Given the description of an element on the screen output the (x, y) to click on. 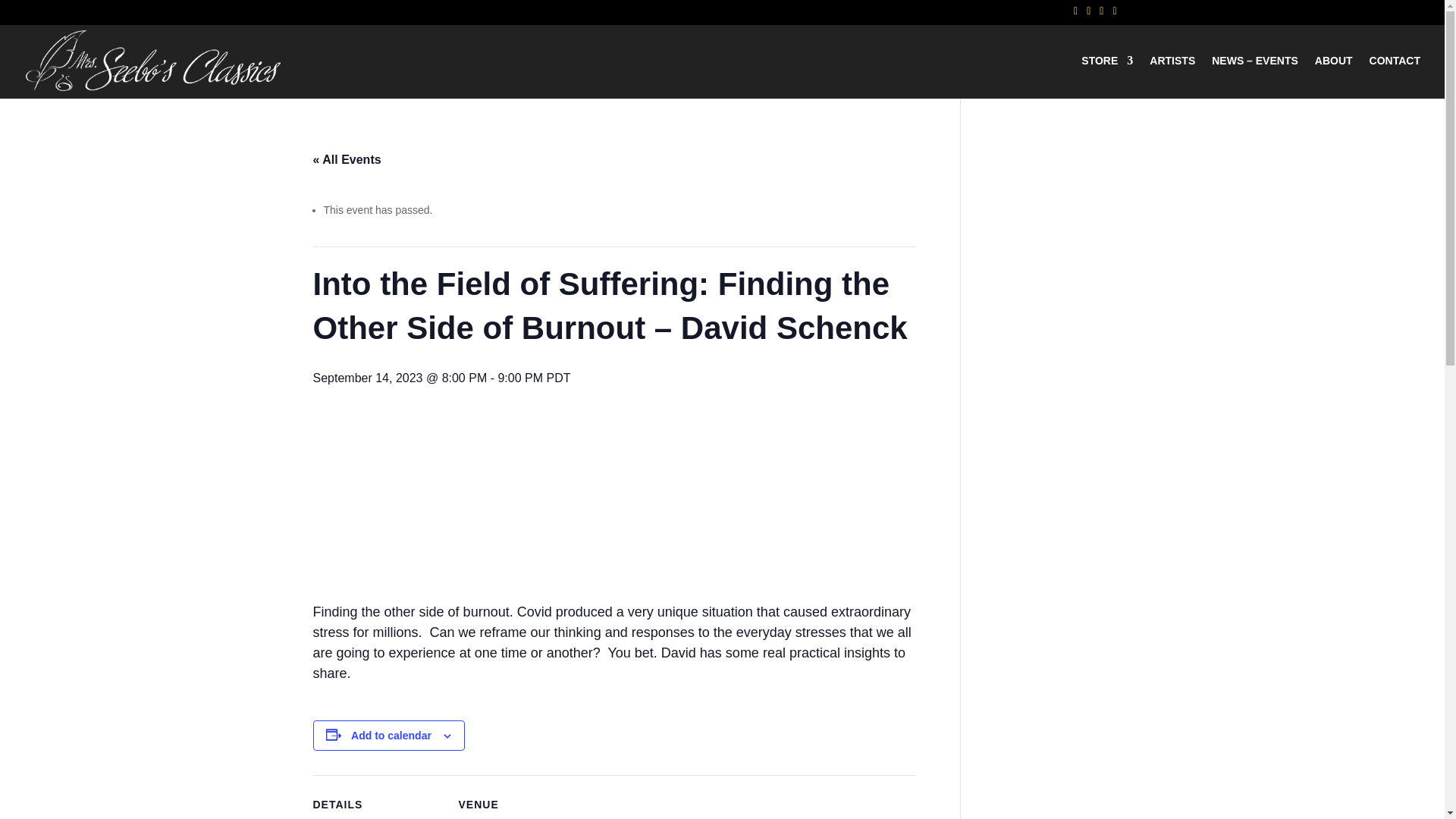
Add to calendar (390, 735)
STORE (1106, 76)
ARTISTS (1172, 76)
CONTACT (1395, 76)
